Given the description of an element on the screen output the (x, y) to click on. 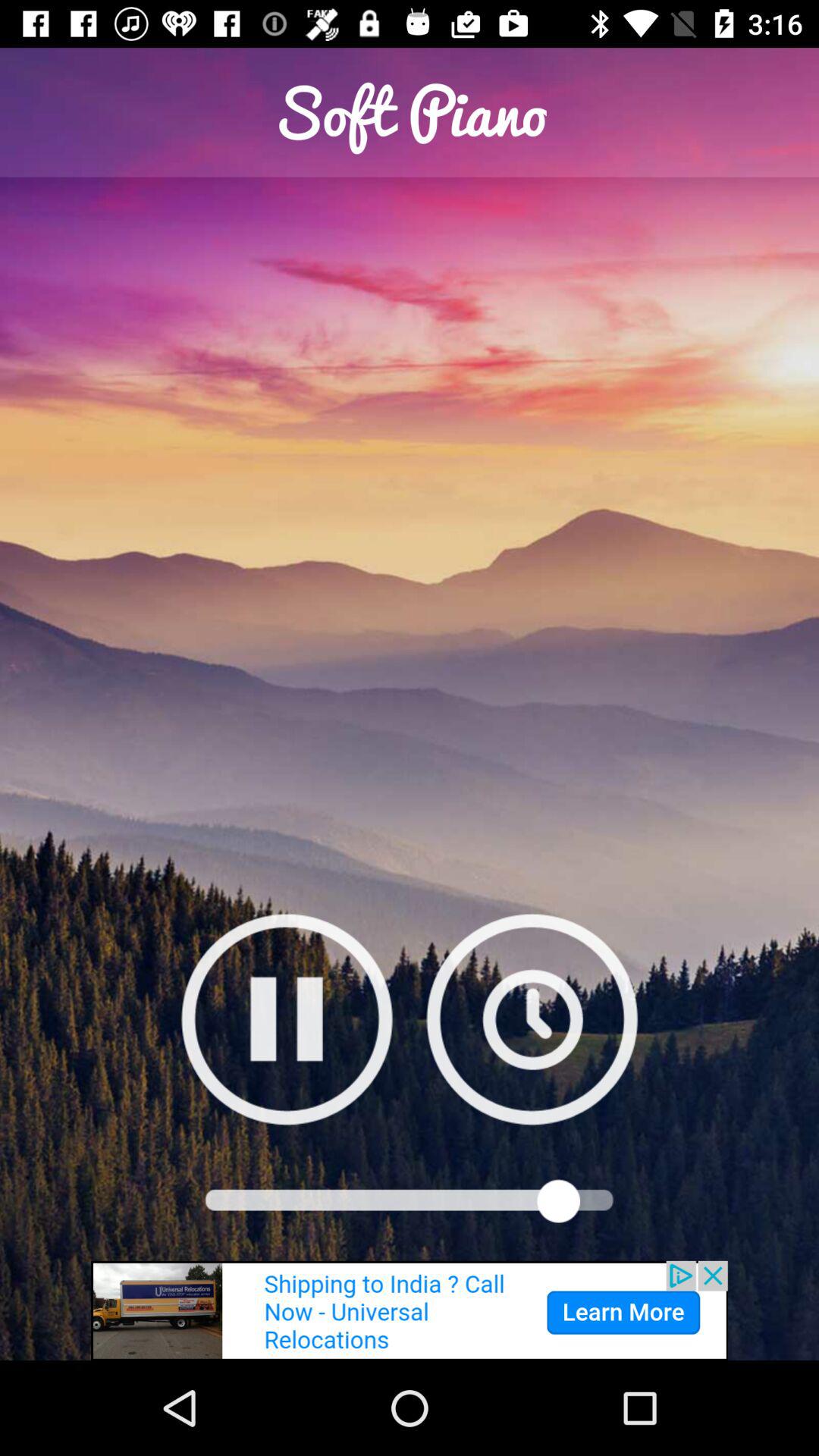
click pause button (286, 1018)
